Given the description of an element on the screen output the (x, y) to click on. 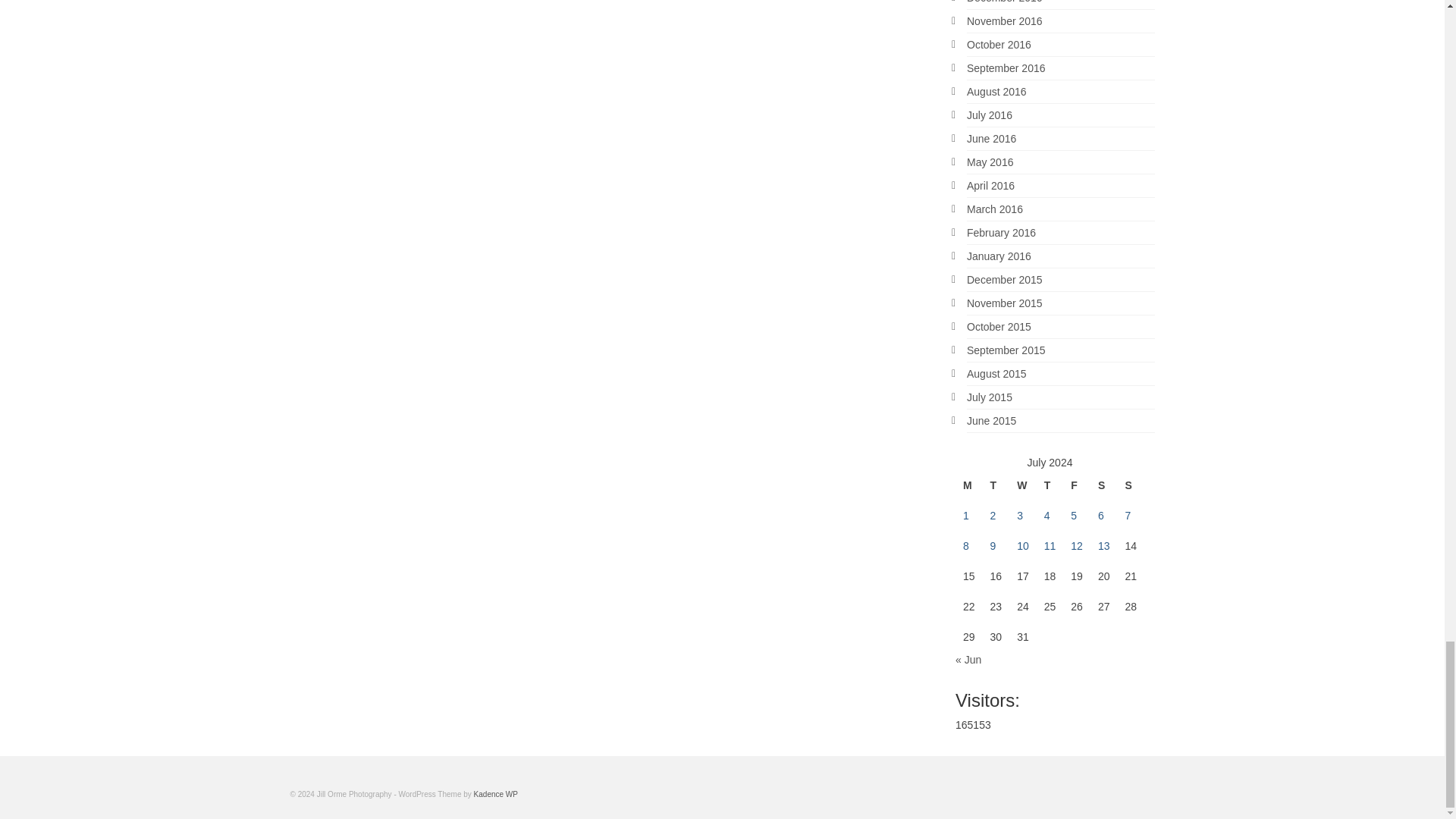
Tuesday (996, 485)
Thursday (1050, 485)
Wednesday (1022, 485)
Monday (968, 485)
Friday (1076, 485)
